Given the description of an element on the screen output the (x, y) to click on. 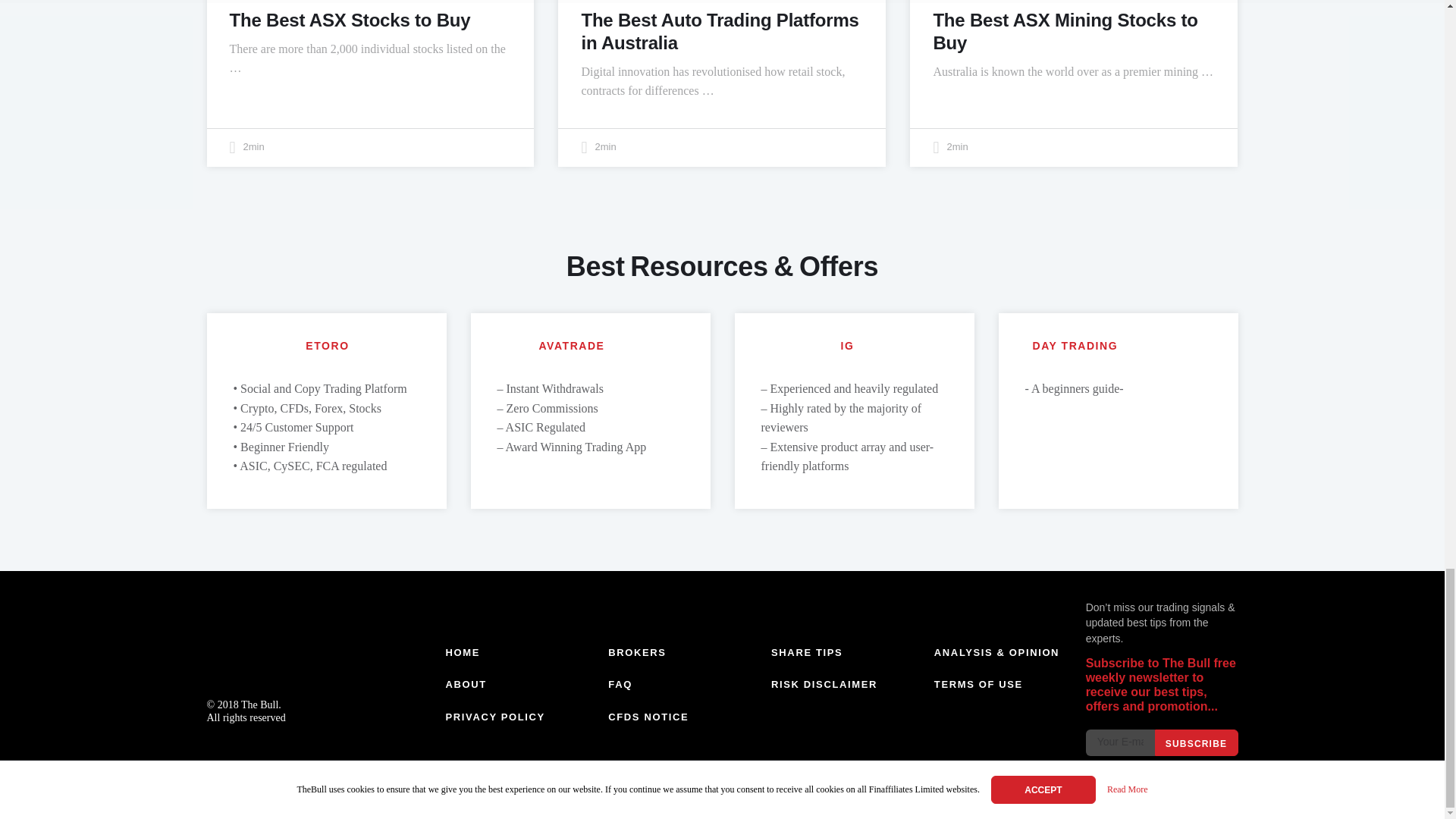
The Best Auto Trading Platforms in Australia (719, 31)
Subscribe (1195, 742)
The Best ASX Stocks to Buy (349, 19)
